Given the description of an element on the screen output the (x, y) to click on. 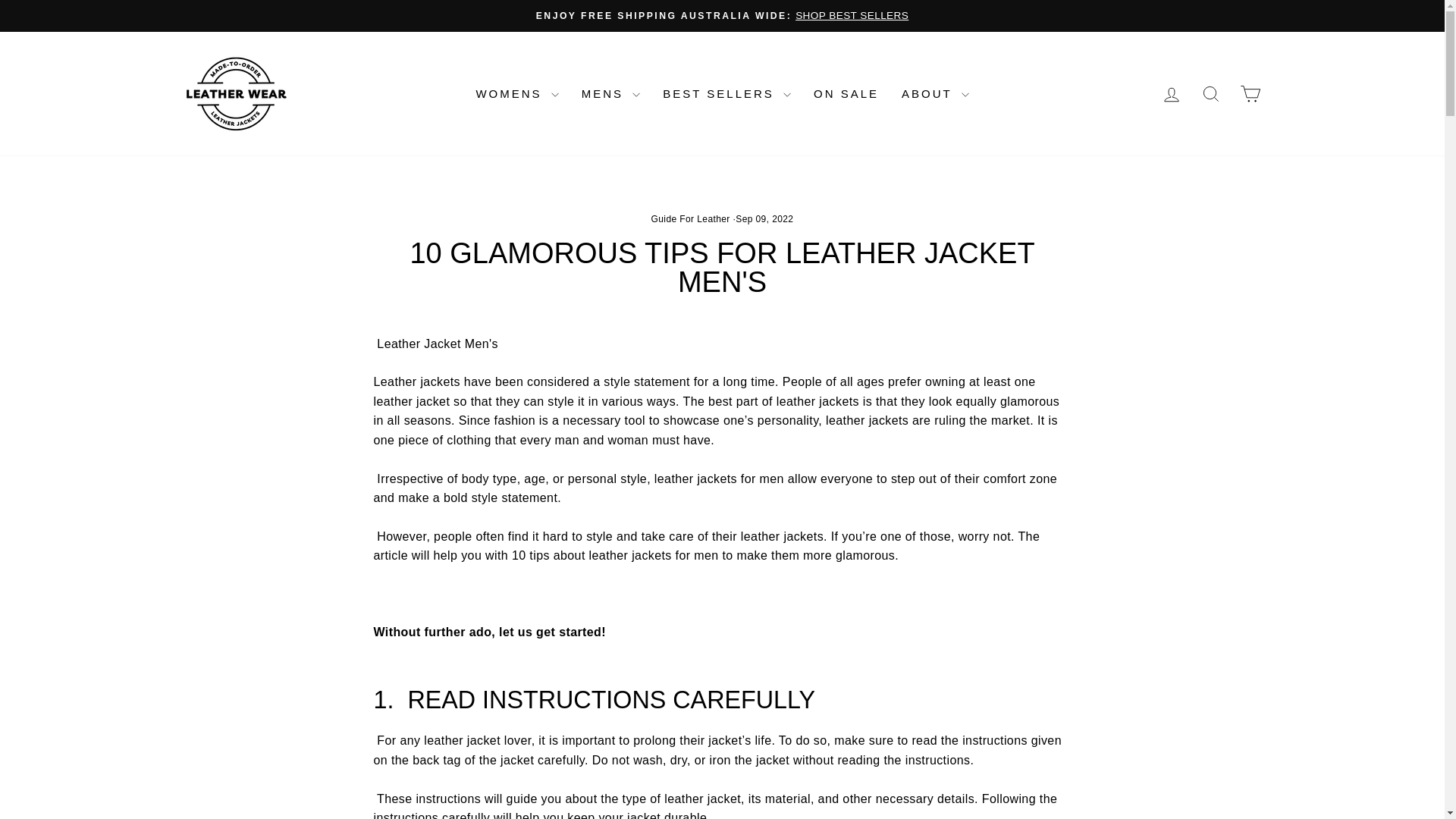
ACCOUNT (1170, 94)
ICON-SEARCH (1210, 93)
ENJOY FREE SHIPPING AUSTRALIA WIDE:SHOP BEST SELLERS (722, 15)
